Given the description of an element on the screen output the (x, y) to click on. 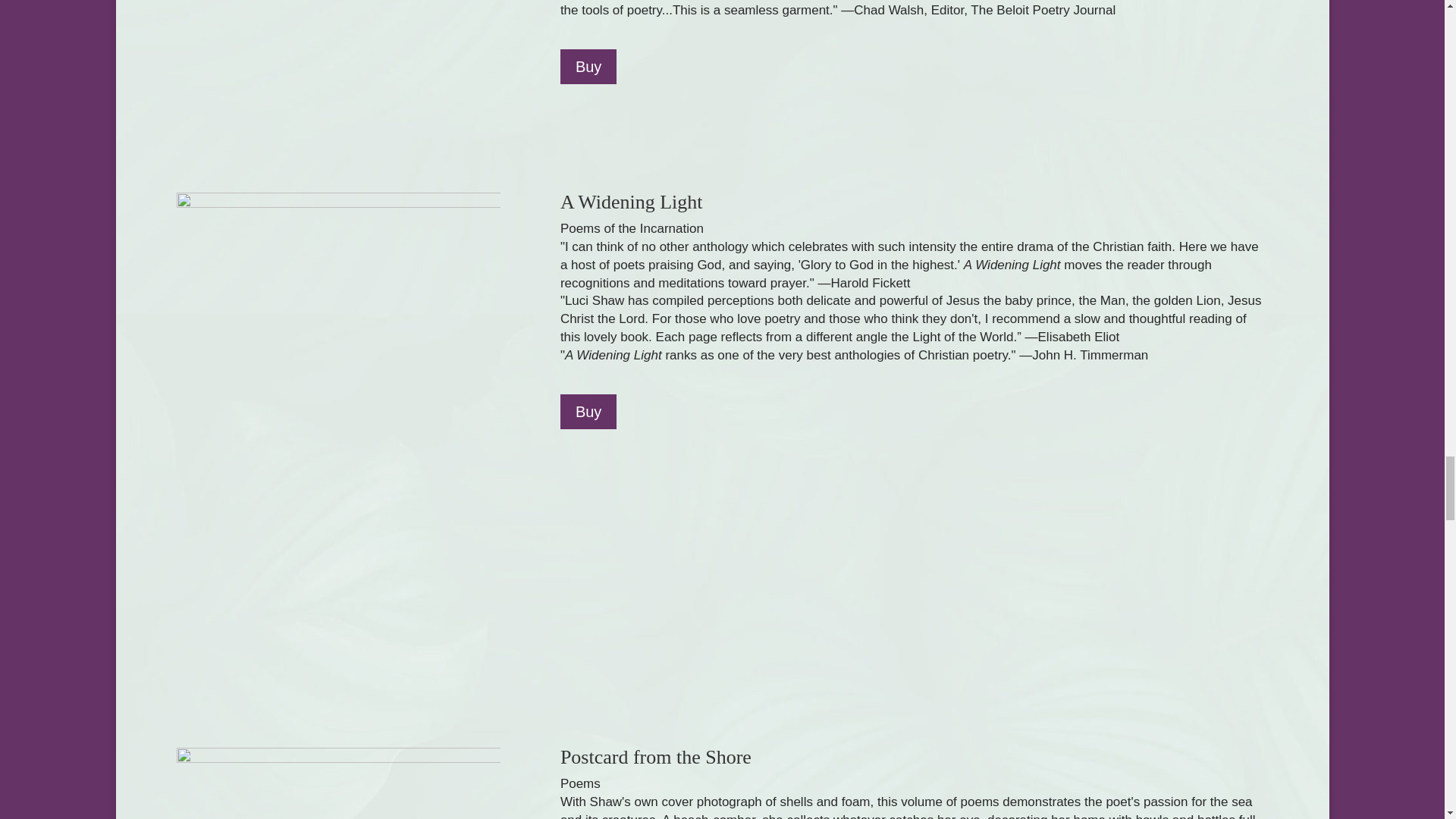
postcard-from-the-shore (337, 783)
the-sighting (265, 69)
